Given the description of an element on the screen output the (x, y) to click on. 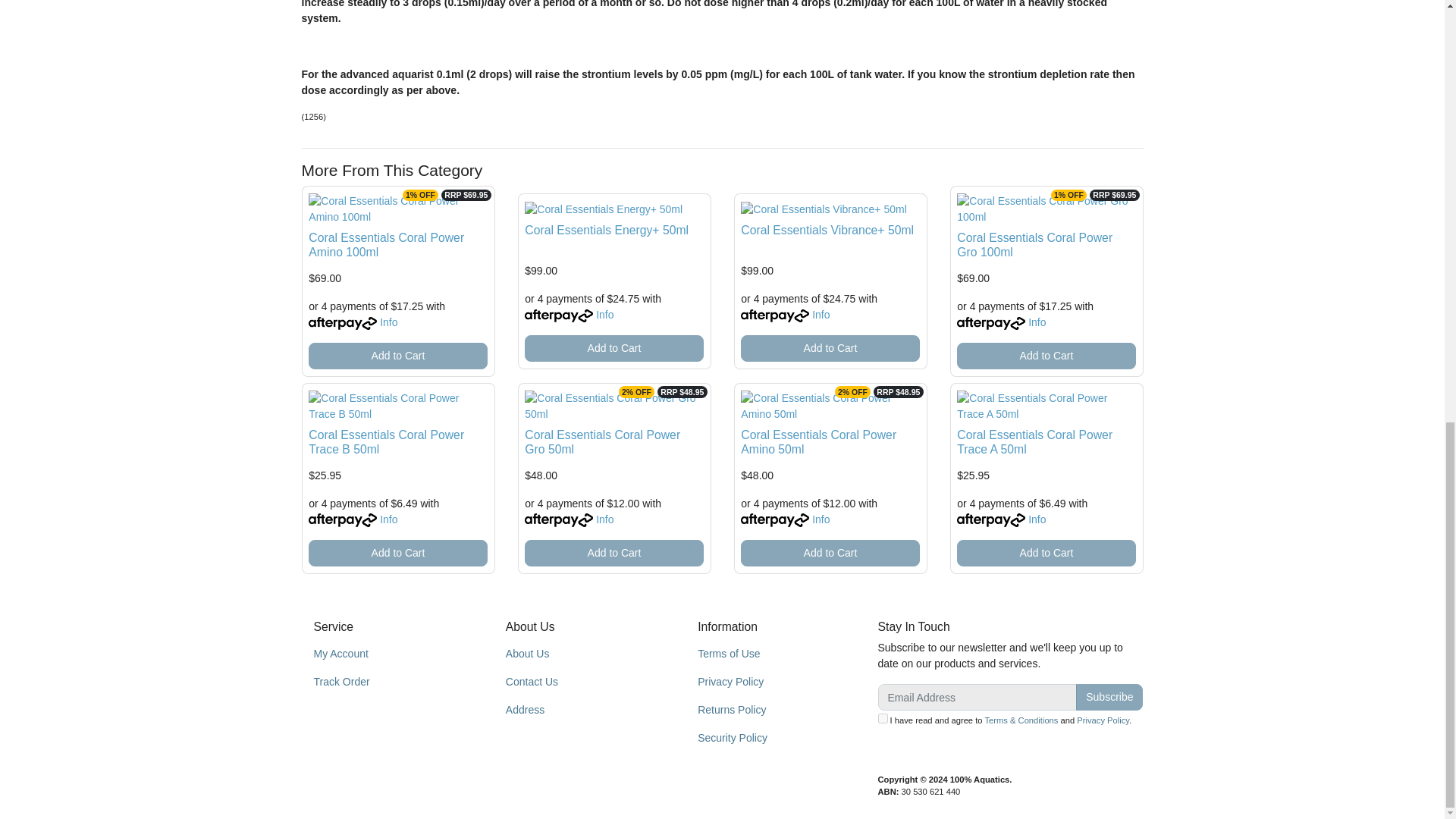
y (882, 718)
Add Coral Essentials Coral Power Gro 50ml to Cart (613, 552)
Subscribe (1108, 696)
Add Coral Essentials Coral Power Amino 100ml to Cart (397, 356)
Add Coral Essentials Coral Power Gro 100ml to Cart (1045, 356)
Add Coral Essentials Coral Power Trace B 50ml to Cart (397, 552)
Add Coral Essentials Coral Power Trace A 50ml to Cart (1045, 552)
Add Coral Essentials Coral Power Amino 50ml to Cart (829, 552)
